Given the description of an element on the screen output the (x, y) to click on. 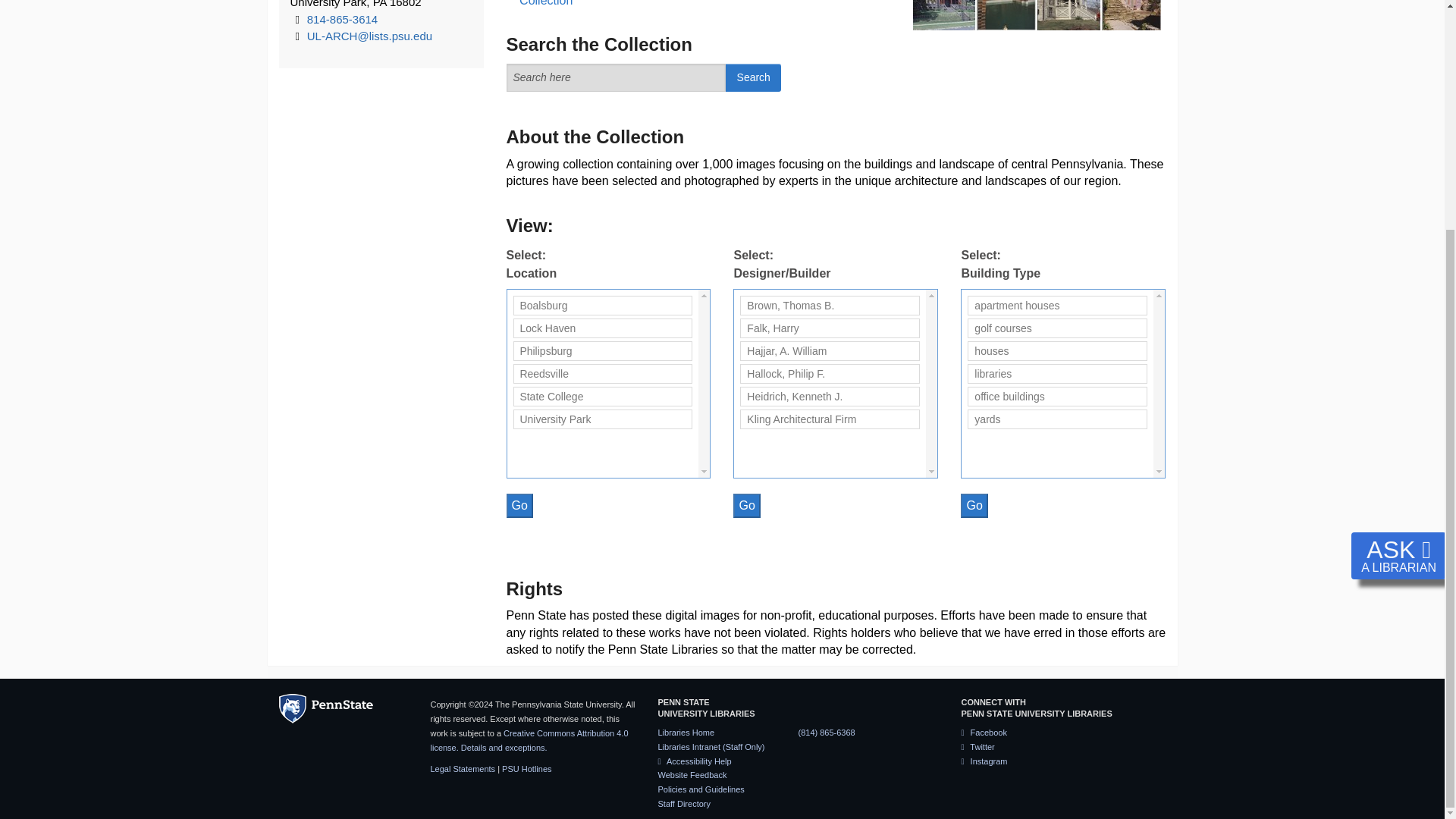
Facebook (983, 732)
Twitter (977, 746)
enter search terms (616, 77)
Instagram (983, 760)
Go (519, 505)
814-865-3614 (342, 19)
Go (973, 505)
Search (752, 77)
Go (746, 505)
Libraries Home (686, 732)
